Given the description of an element on the screen output the (x, y) to click on. 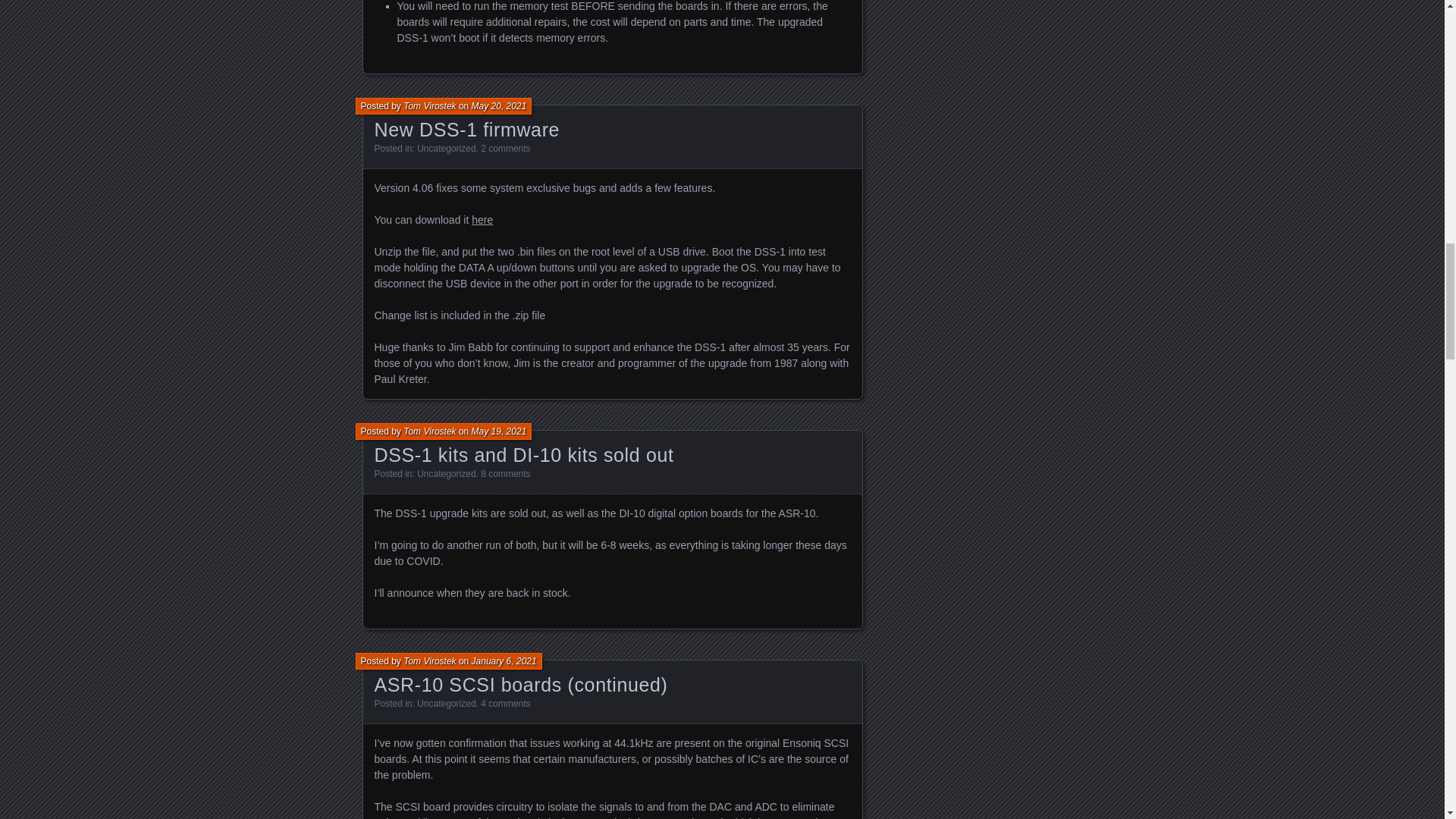
View all posts by Tom Virostek (429, 661)
View all posts by Tom Virostek (429, 105)
View all posts by Tom Virostek (429, 430)
